Given the description of an element on the screen output the (x, y) to click on. 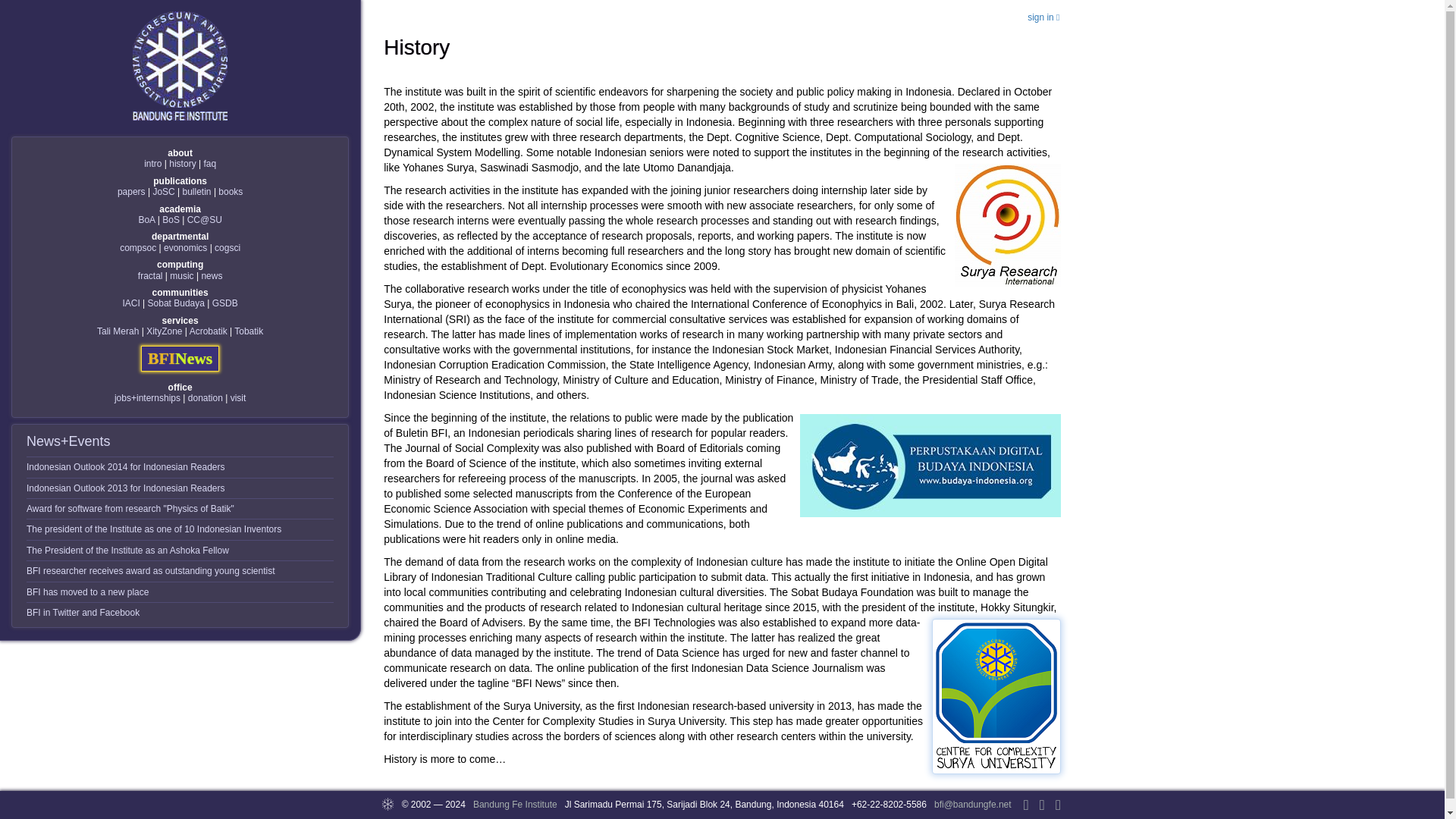
BFI has moved to a new place (87, 592)
See you on Youtube. (1058, 804)
Center for Complexities, Surya University (204, 219)
The President of the Institute as an Ashoka Fellow (127, 550)
intro (152, 163)
evonomics (184, 247)
Indonesian Outlook 2014 for Indonesian Readers (125, 466)
Award for software from research "Physics of Batik" (130, 508)
BFINews (180, 358)
news (211, 276)
papers (131, 191)
JoSC (163, 191)
Acrobatik (208, 330)
faq (209, 163)
sign in (1050, 17)
